Given the description of an element on the screen output the (x, y) to click on. 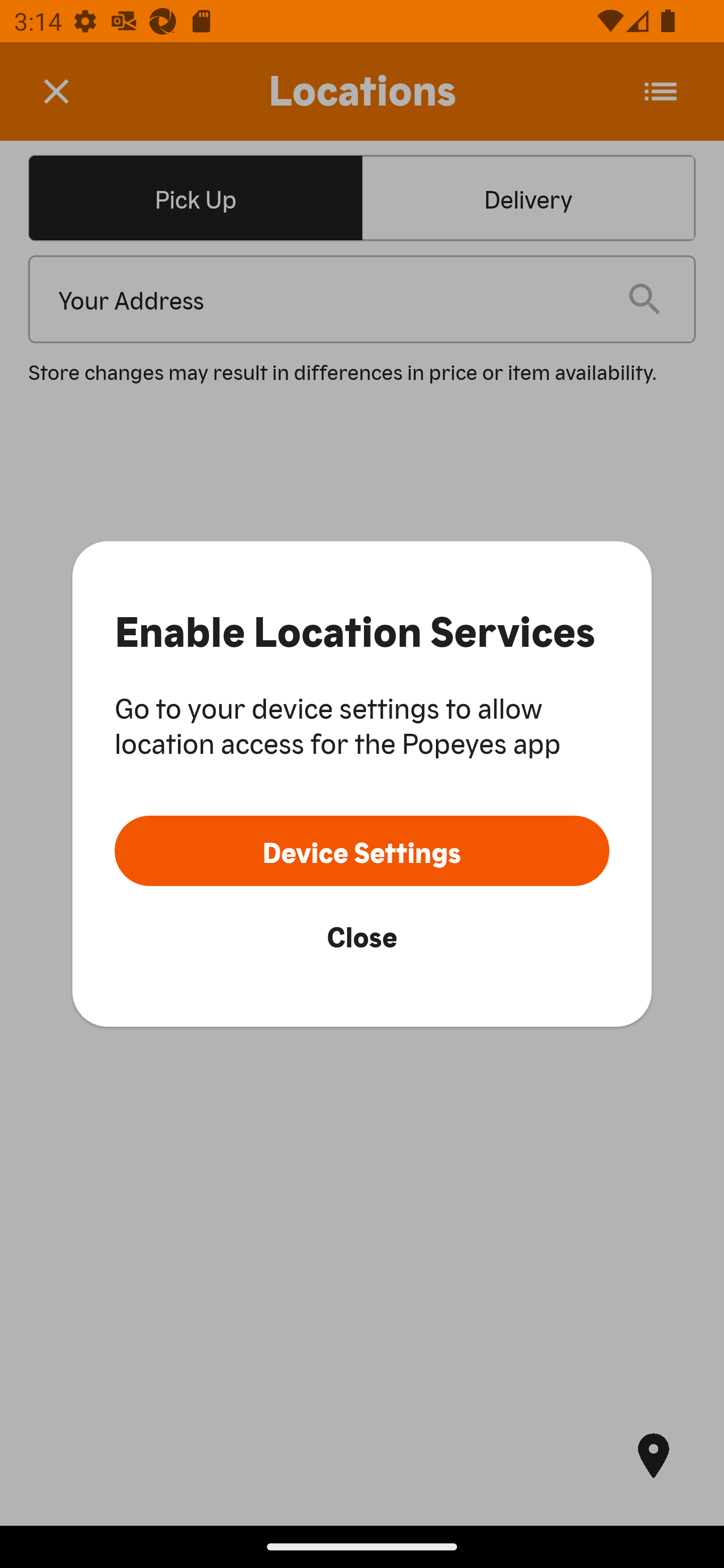
Device Settings (361, 850)
Close (361, 935)
